Given the description of an element on the screen output the (x, y) to click on. 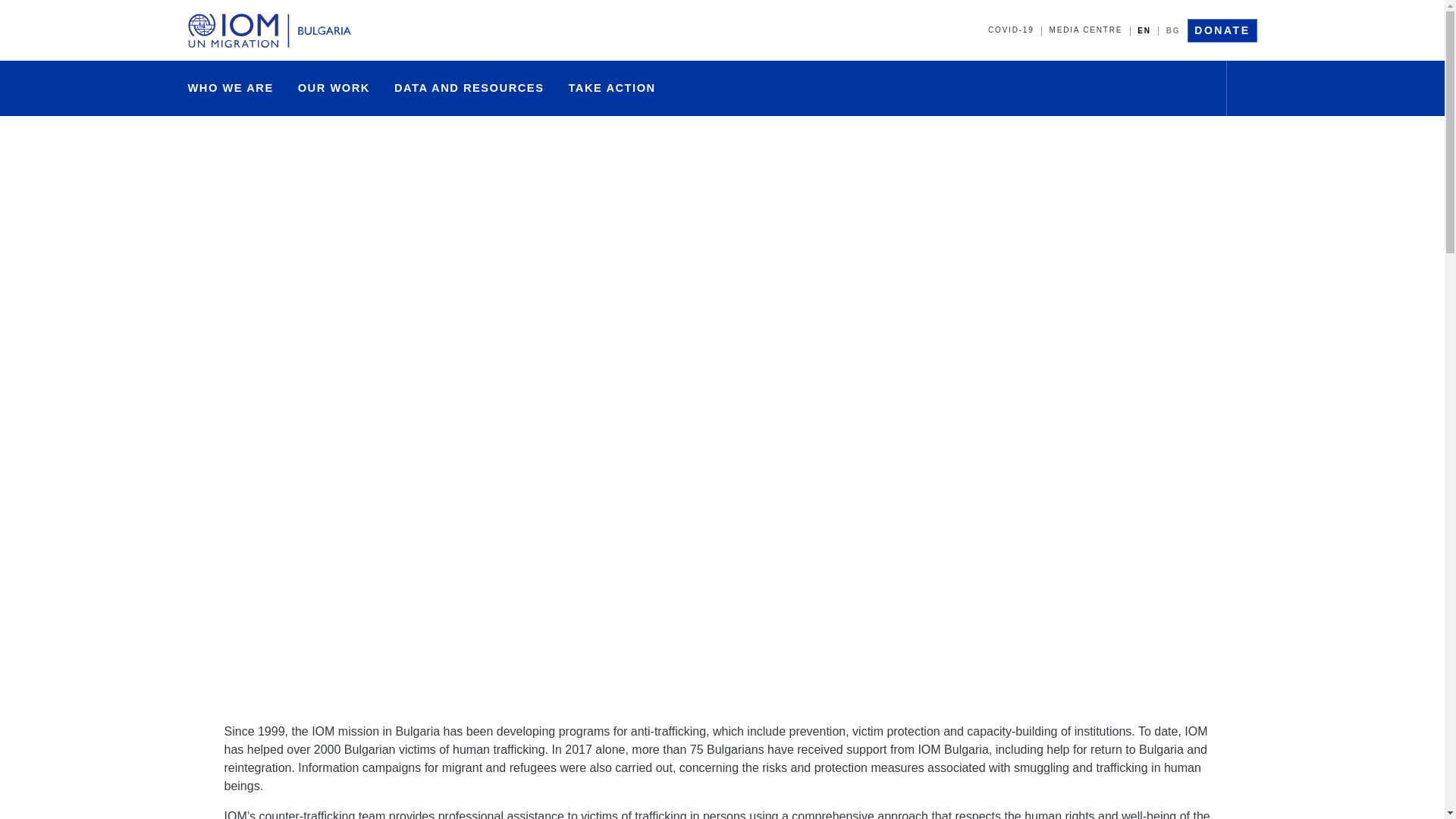
Home (272, 30)
BG (1173, 30)
DONATE (1222, 29)
DATA AND RESOURCES (468, 88)
Skip to main content (721, 1)
EN (1143, 30)
Click here to Search our website (1248, 87)
2030 AGENDA (684, 88)
TAKE ACTION (611, 88)
COVID-19 (1010, 30)
WHO WE ARE (230, 88)
OUR WORK (333, 88)
MEDIA CENTRE (1086, 30)
